Given the description of an element on the screen output the (x, y) to click on. 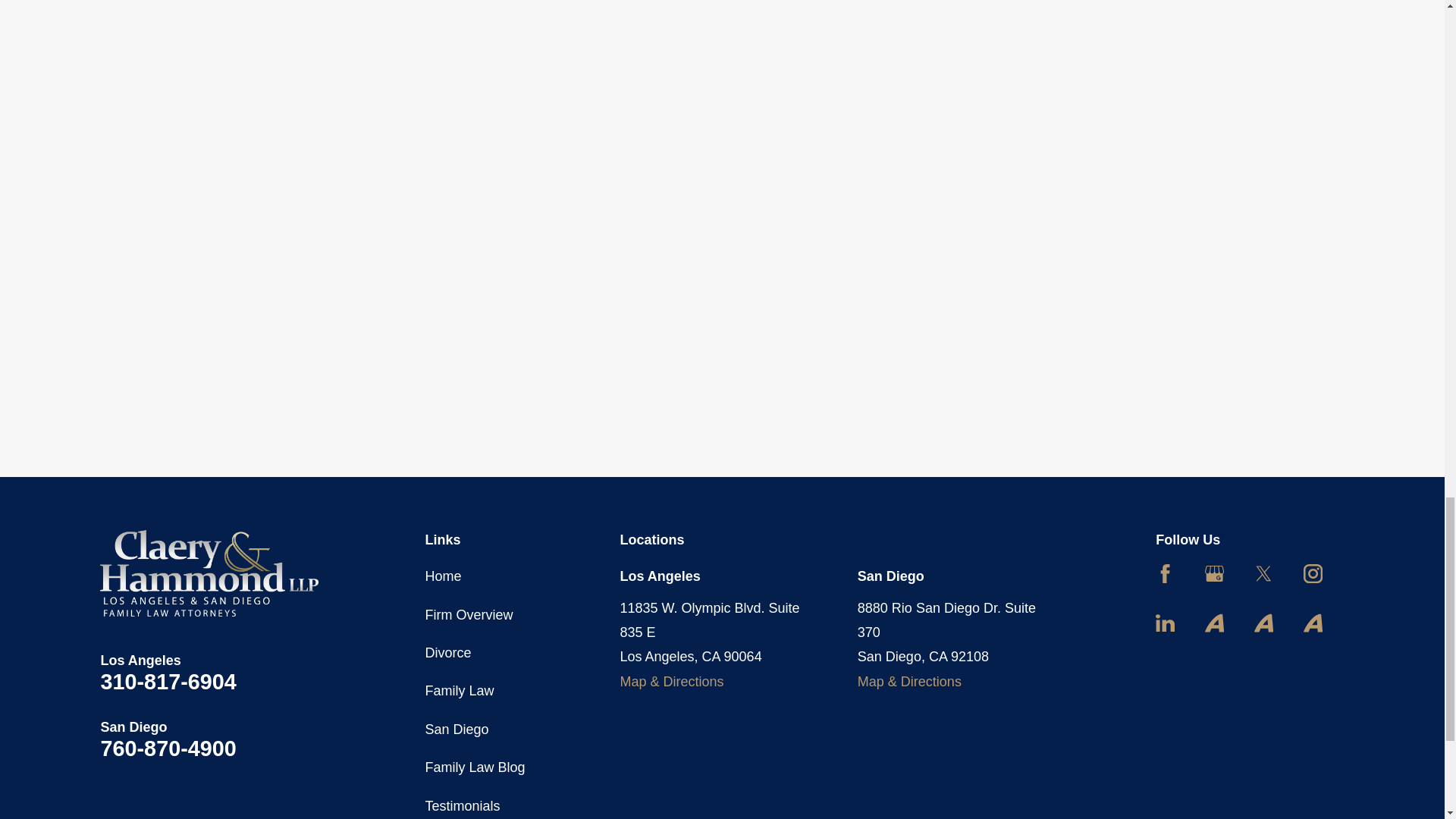
Home (209, 572)
